Given the description of an element on the screen output the (x, y) to click on. 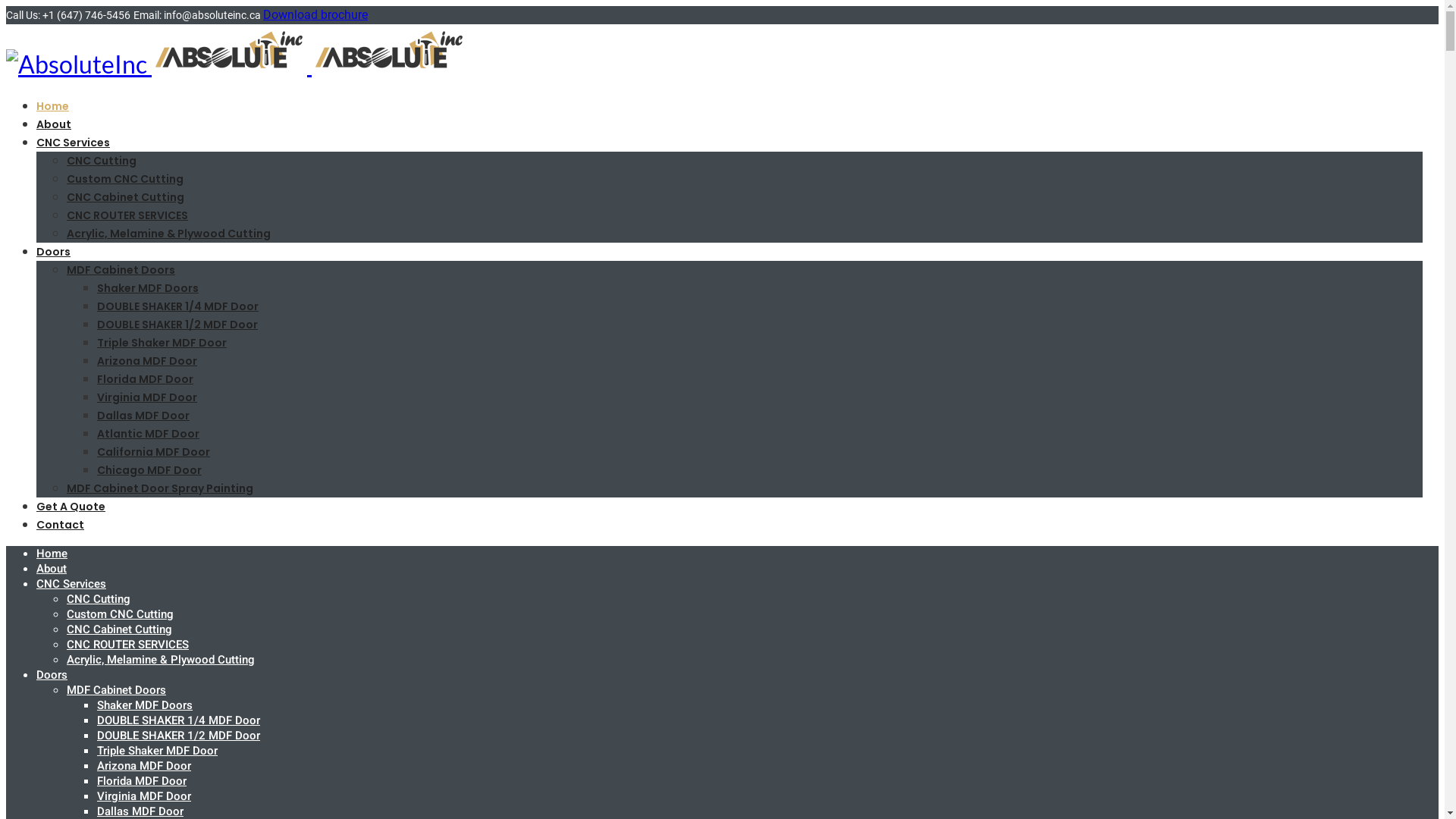
DOUBLE SHAKER 1/4 MDF Door Element type: text (177, 305)
Download brochure Element type: text (315, 14)
CNC Services Element type: text (71, 583)
Triple Shaker MDF Door Element type: text (157, 750)
Acrylic, Melamine & Plywood Cutting Element type: text (160, 659)
Arizona MDF Door Element type: text (144, 765)
Get A Quote Element type: text (70, 506)
Doors Element type: text (51, 674)
Triple Shaker MDF Door Element type: text (161, 342)
About Element type: text (53, 123)
California MDF Door Element type: text (153, 451)
DOUBLE SHAKER 1/4 MDF Door Element type: text (178, 720)
About Element type: text (51, 568)
Virginia MDF Door Element type: text (144, 795)
Custom CNC Cutting Element type: text (119, 613)
CNC Cabinet Cutting Element type: text (125, 196)
Acrylic, Melamine & Plywood Cutting Element type: text (168, 233)
Chicago MDF Door Element type: text (149, 469)
Shaker MDF Doors Element type: text (147, 287)
CNC Services Element type: text (72, 142)
CNC Cabinet Cutting Element type: text (119, 629)
Custom CNC Cutting Element type: text (124, 178)
Florida MDF Door Element type: text (141, 780)
CNC ROUTER SERVICES Element type: text (127, 214)
Doors Element type: text (53, 251)
Home Element type: text (52, 105)
MDF Cabinet Doors Element type: text (120, 269)
Contact Element type: text (60, 524)
CNC ROUTER SERVICES Element type: text (127, 644)
Atlantic MDF Door Element type: text (148, 433)
Home Element type: text (51, 553)
DOUBLE SHAKER 1/2 MDF Door Element type: text (178, 735)
CNC Cutting Element type: text (101, 160)
Florida MDF Door Element type: text (145, 378)
Virginia MDF Door Element type: text (147, 396)
Dallas MDF Door Element type: text (143, 415)
Arizona MDF Door Element type: text (147, 360)
MDF Cabinet Door Spray Painting Element type: text (159, 487)
MDF Cabinet Doors Element type: text (116, 689)
Shaker MDF Doors Element type: text (144, 704)
CNC Cutting Element type: text (98, 598)
DOUBLE SHAKER 1/2 MDF Door Element type: text (177, 324)
